Given the description of an element on the screen output the (x, y) to click on. 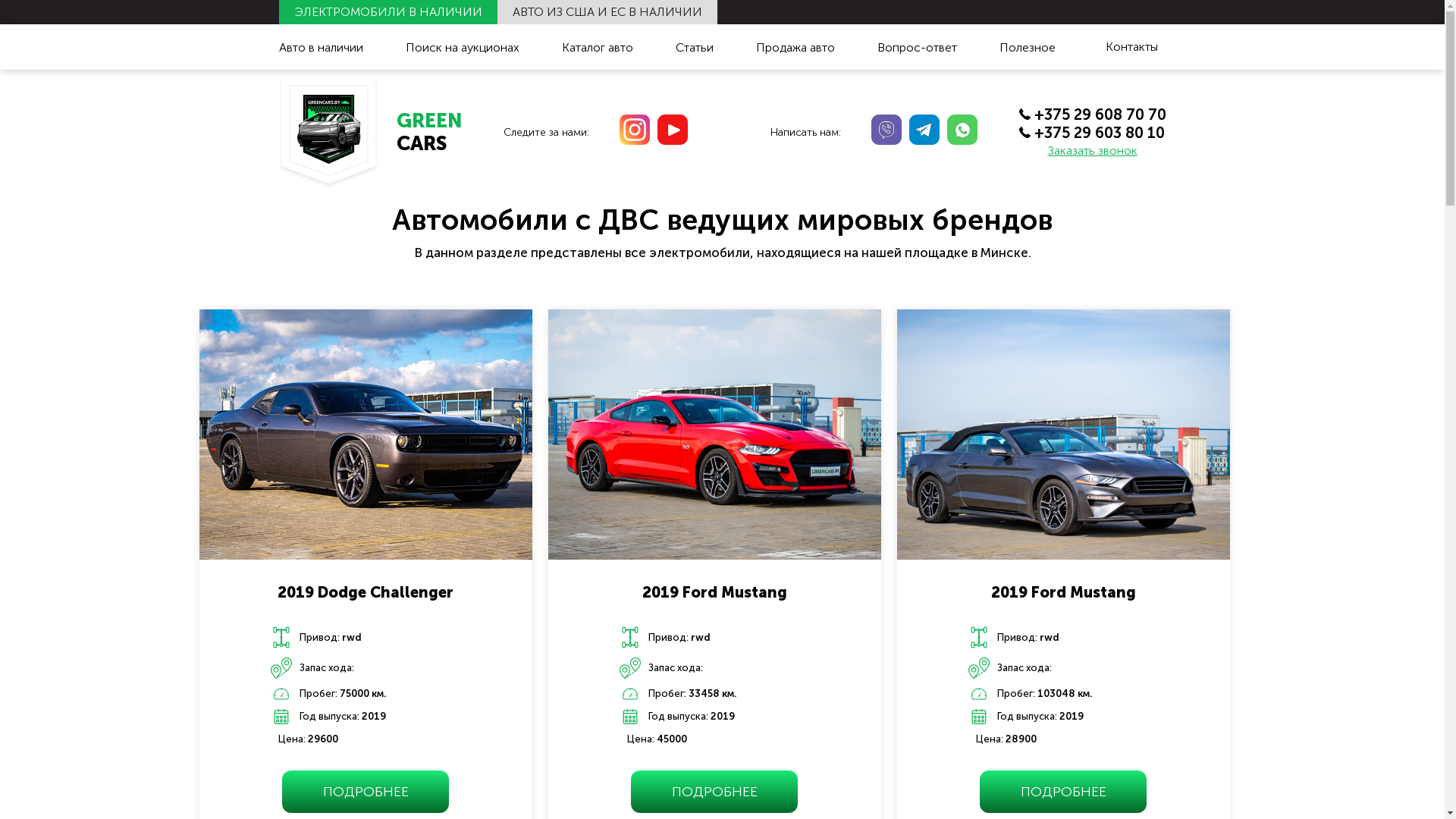
2019 Ford Mustang Element type: text (1063, 587)
+375 29 608 70 70 Element type: text (1092, 113)
+375 29 603 80 10 Element type: text (1092, 131)
2019 Dodge Challenger Element type: text (365, 587)
2019 Ford Mustang Element type: text (714, 587)
GREEN
CARS Element type: text (370, 132)
